Given the description of an element on the screen output the (x, y) to click on. 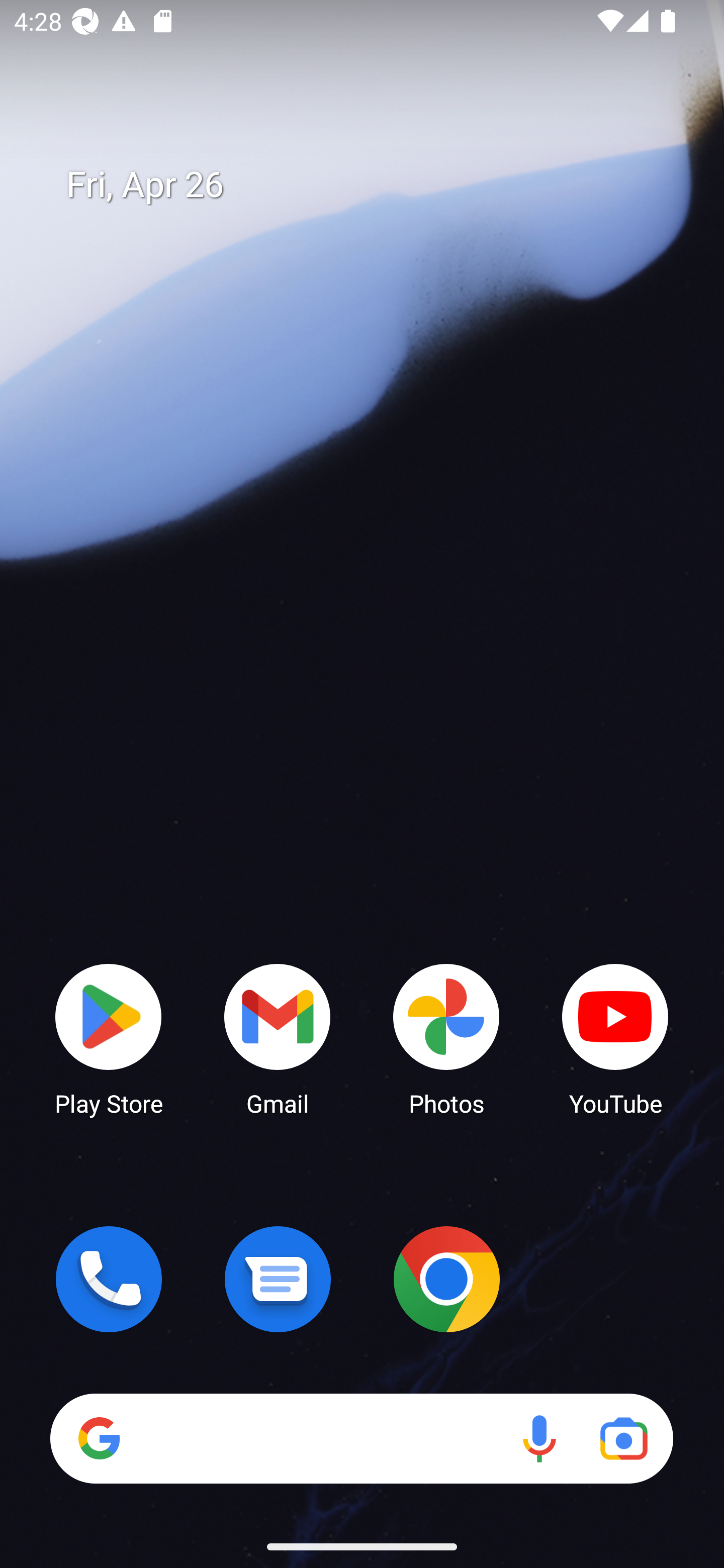
Fri, Apr 26 (375, 184)
Play Store (108, 1038)
Gmail (277, 1038)
Photos (445, 1038)
YouTube (615, 1038)
Phone (108, 1279)
Messages (277, 1279)
Chrome (446, 1279)
Search Voice search Google Lens (361, 1438)
Voice search (539, 1438)
Google Lens (623, 1438)
